Given the description of an element on the screen output the (x, y) to click on. 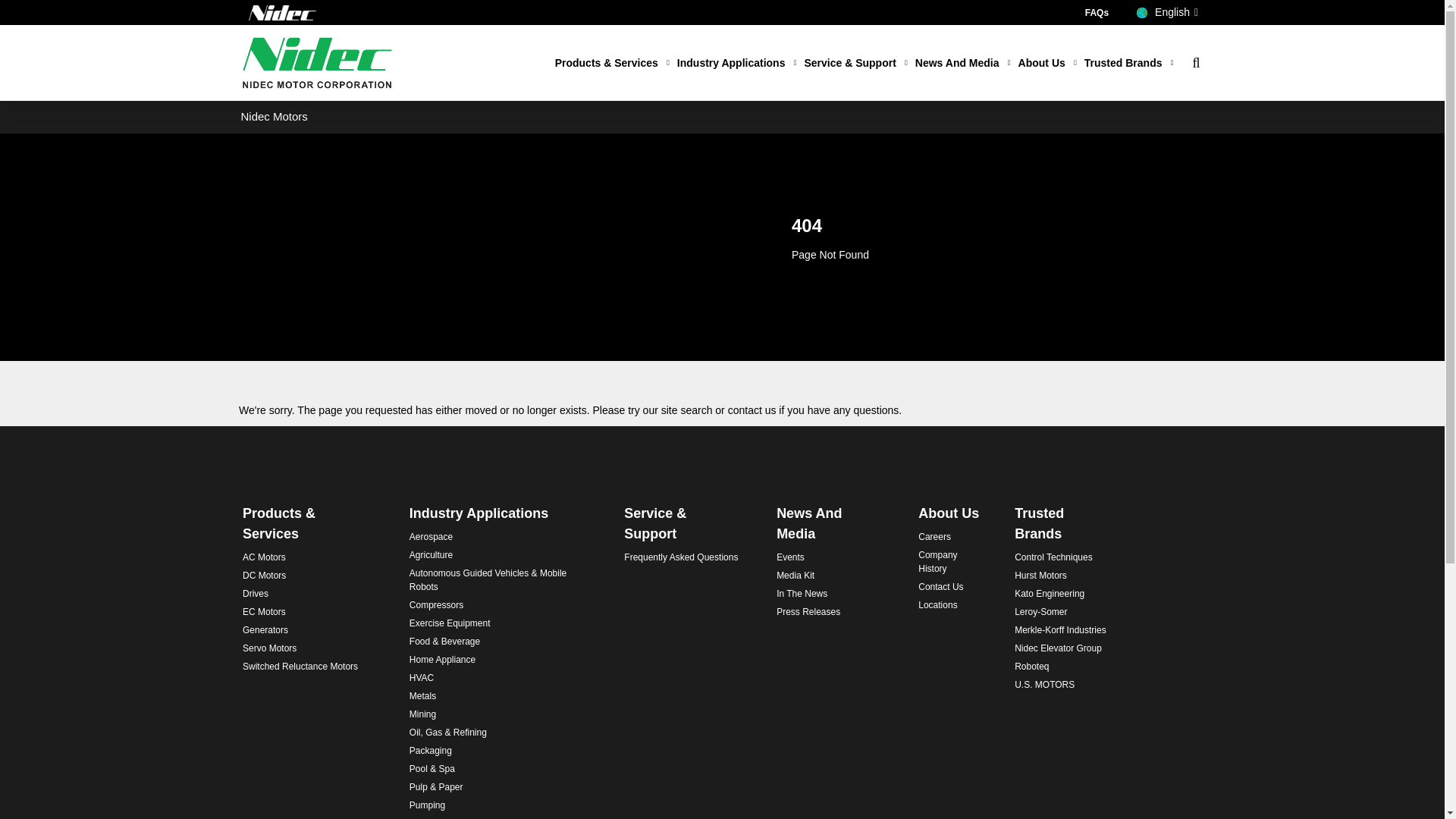
FAQs (1096, 12)
Logo (282, 11)
Products and Services (611, 63)
BrandLogo (317, 62)
English (1168, 12)
